Given the description of an element on the screen output the (x, y) to click on. 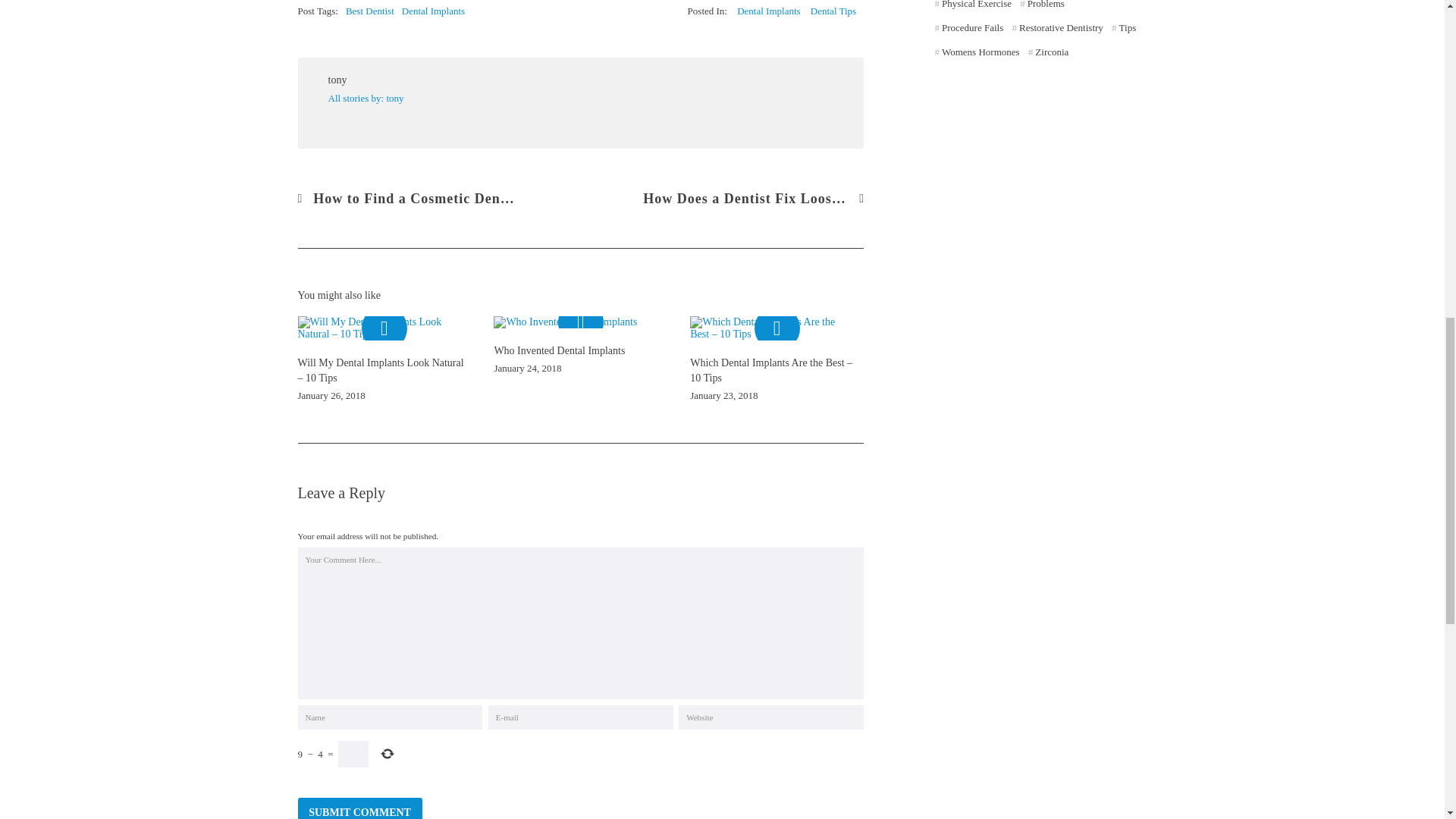
Submit Comment (359, 808)
Who Invented Dental Implants (579, 322)
